Given the description of an element on the screen output the (x, y) to click on. 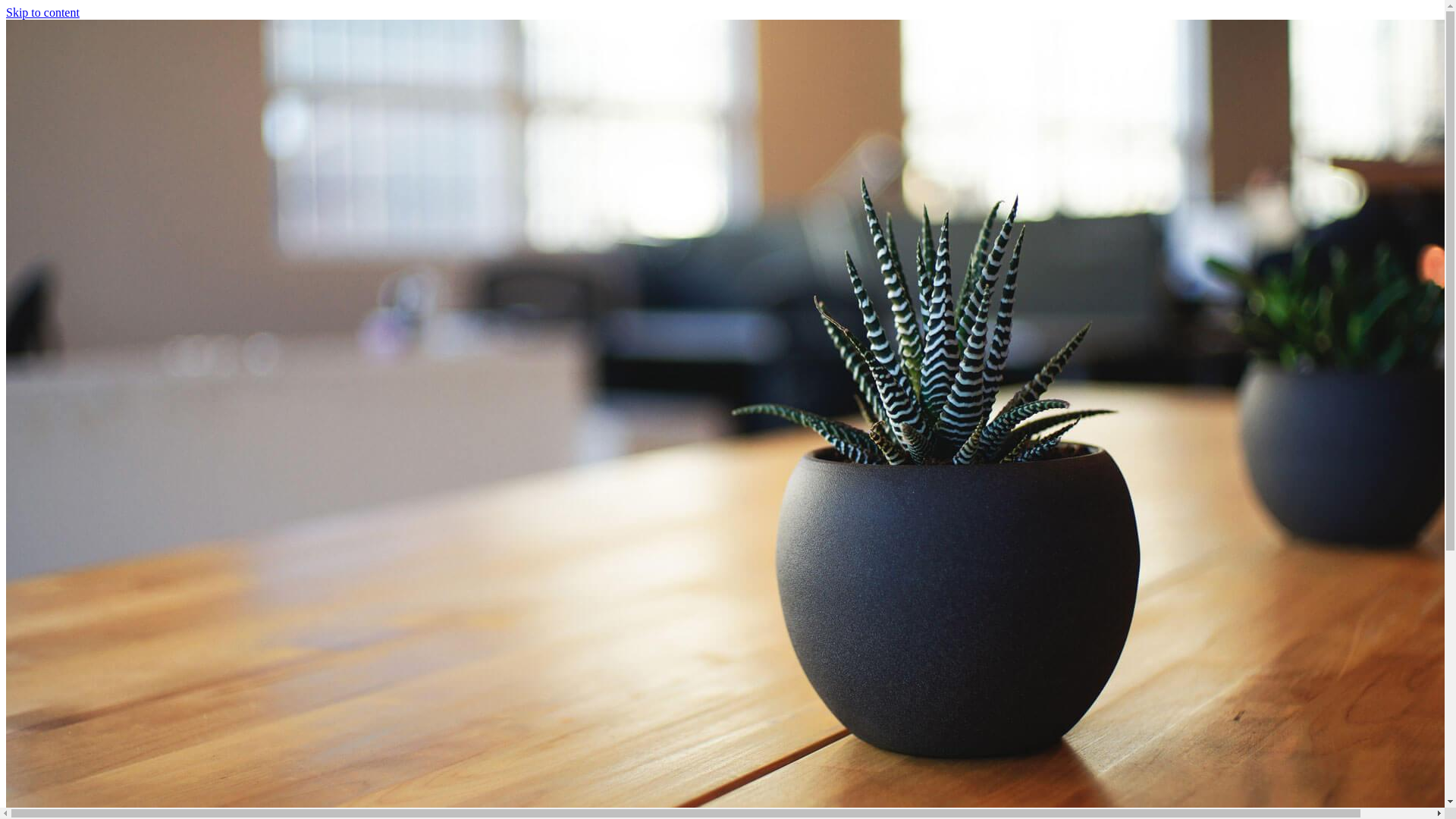
Skip to content Element type: text (42, 12)
